Given the description of an element on the screen output the (x, y) to click on. 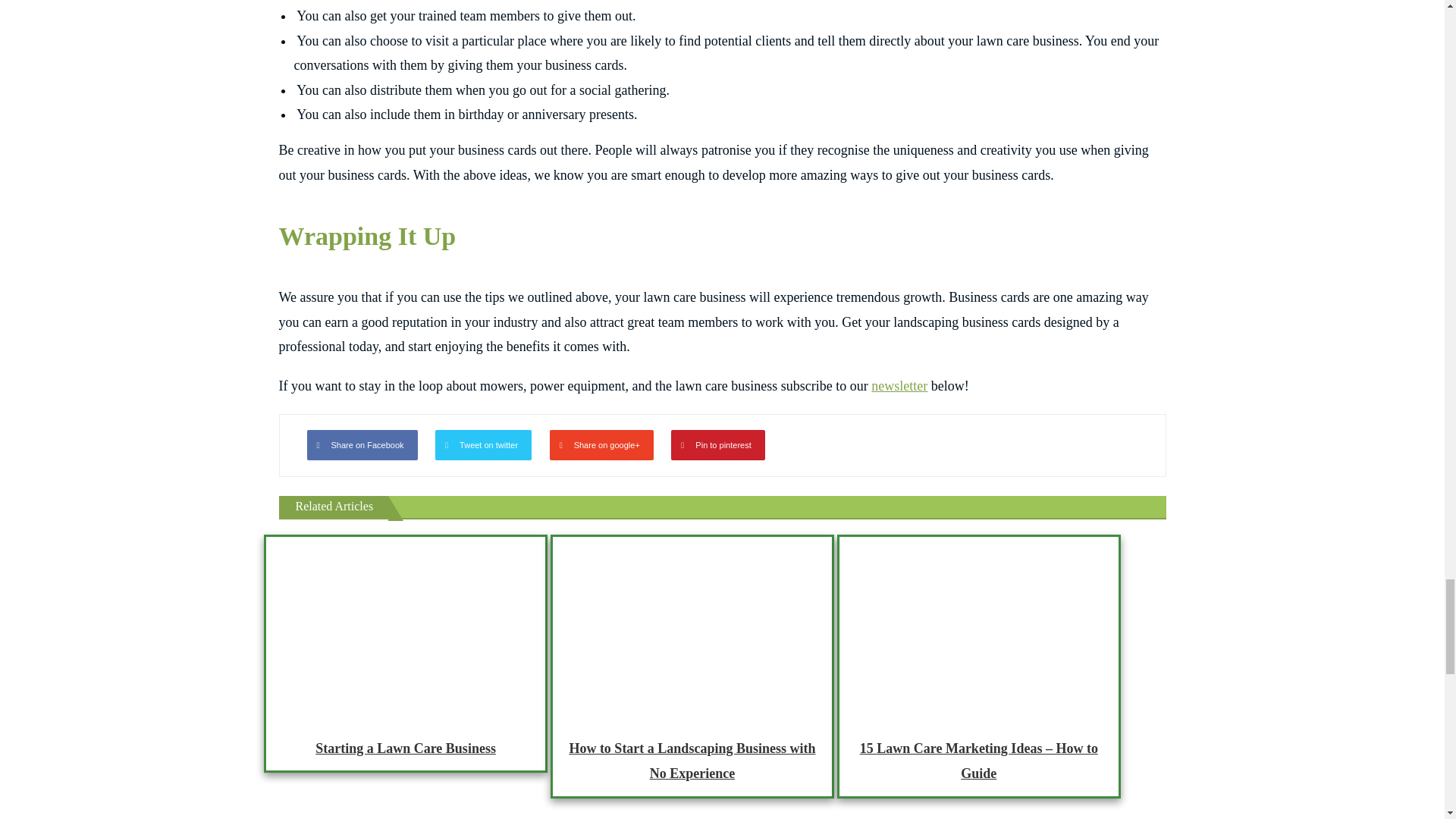
How to Start a Landscaping Business with No Experience (692, 626)
Starting a Lawn Care Business (405, 626)
